Given the description of an element on the screen output the (x, y) to click on. 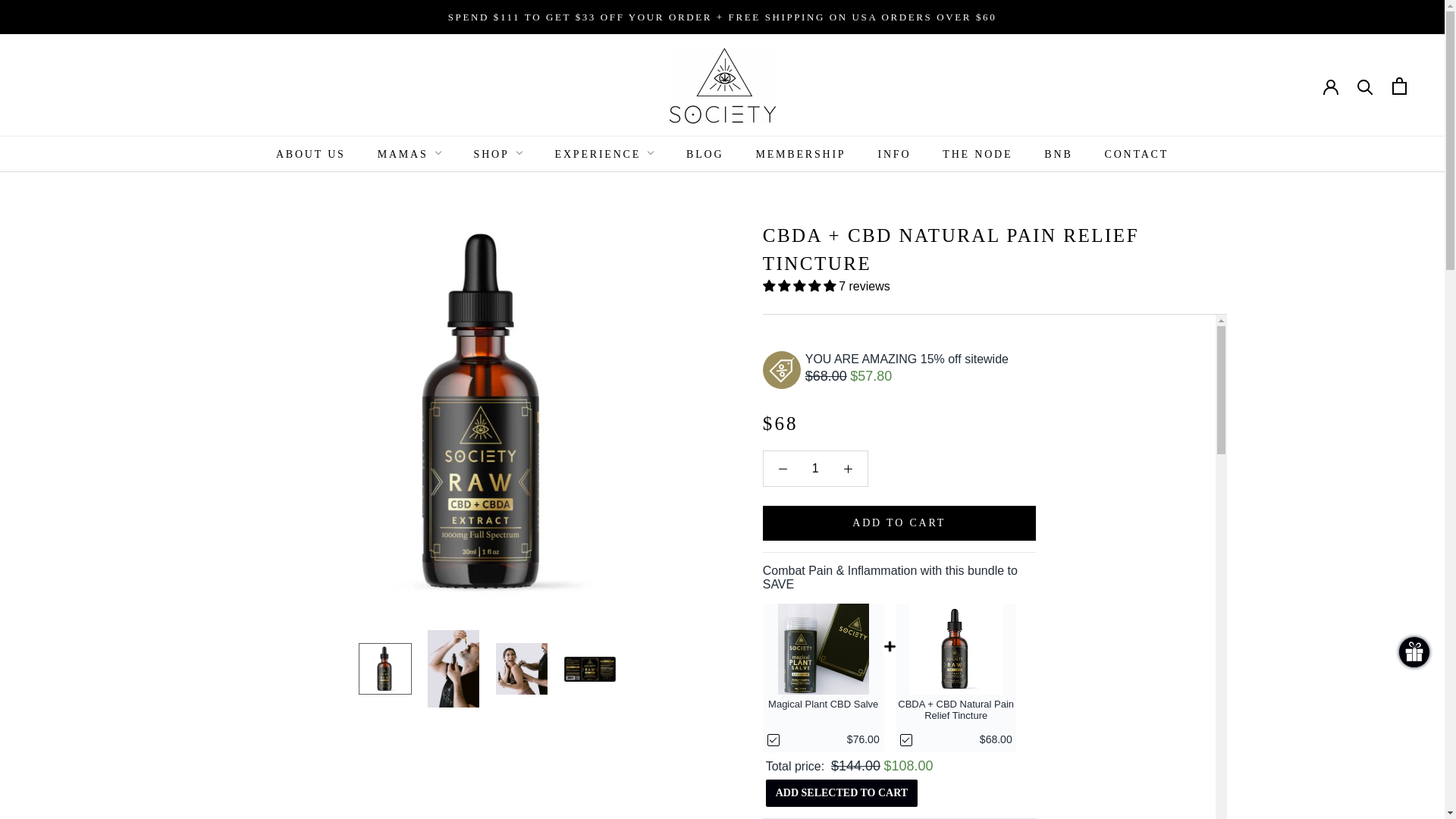
1 (815, 468)
